Given the description of an element on the screen output the (x, y) to click on. 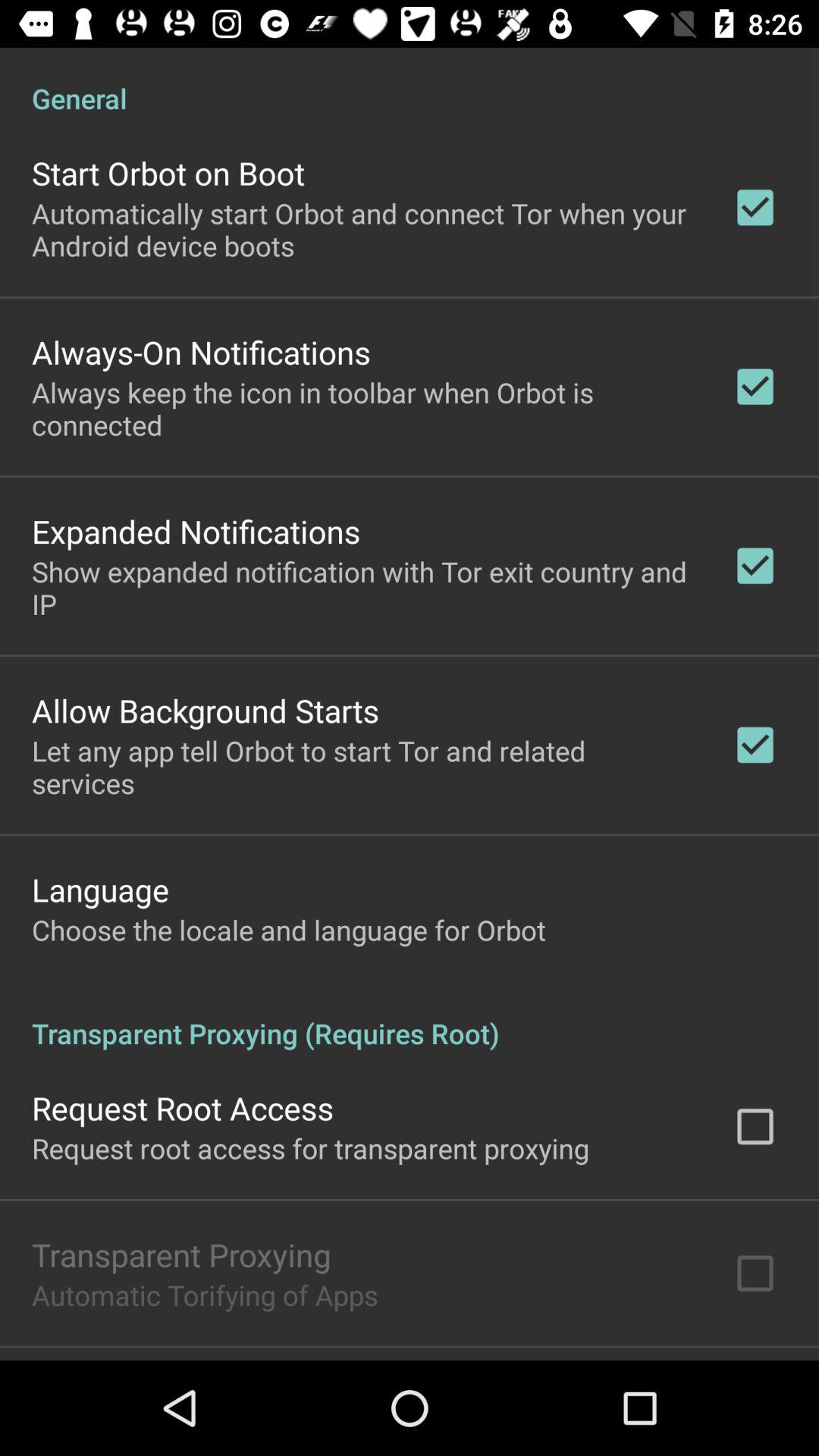
click the expanded notifications app (195, 530)
